Given the description of an element on the screen output the (x, y) to click on. 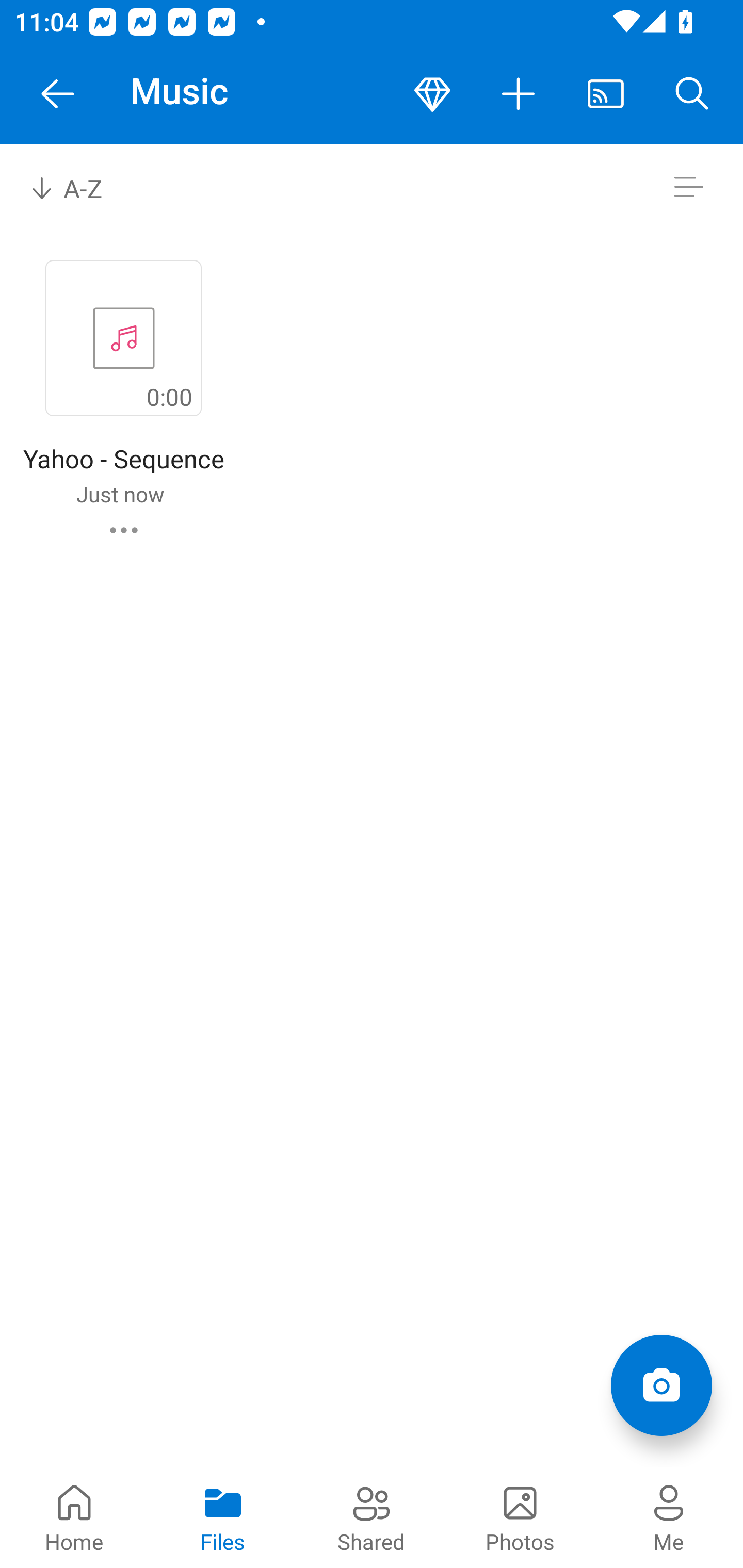
Navigate Up (57, 93)
Cast. Disconnected (605, 93)
Premium button (432, 93)
More actions button (518, 93)
Search button (692, 93)
A-Z Sort by combo box, sort by name, A to Z (80, 187)
Switch to list view (688, 187)
Just now (119, 493)
Yahoo - Sequence commands (123, 529)
Add items Scan (660, 1385)
Home pivot Home (74, 1517)
Shared pivot Shared (371, 1517)
Photos pivot Photos (519, 1517)
Me pivot Me (668, 1517)
